Given the description of an element on the screen output the (x, y) to click on. 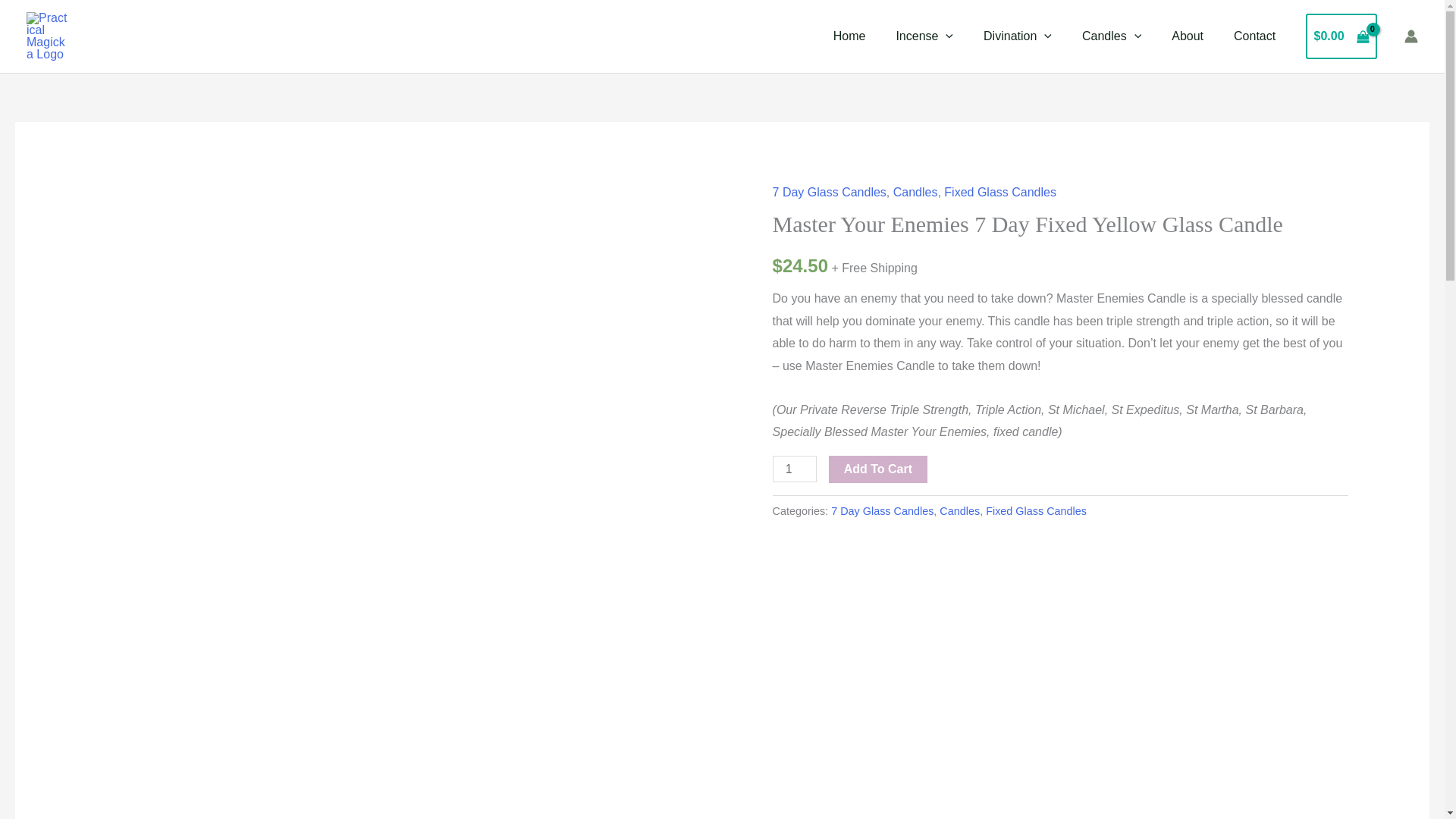
Divination (1017, 36)
Candles (1111, 36)
1 (794, 468)
Incense (924, 36)
Contact (1254, 36)
Qty (794, 468)
